Given the description of an element on the screen output the (x, y) to click on. 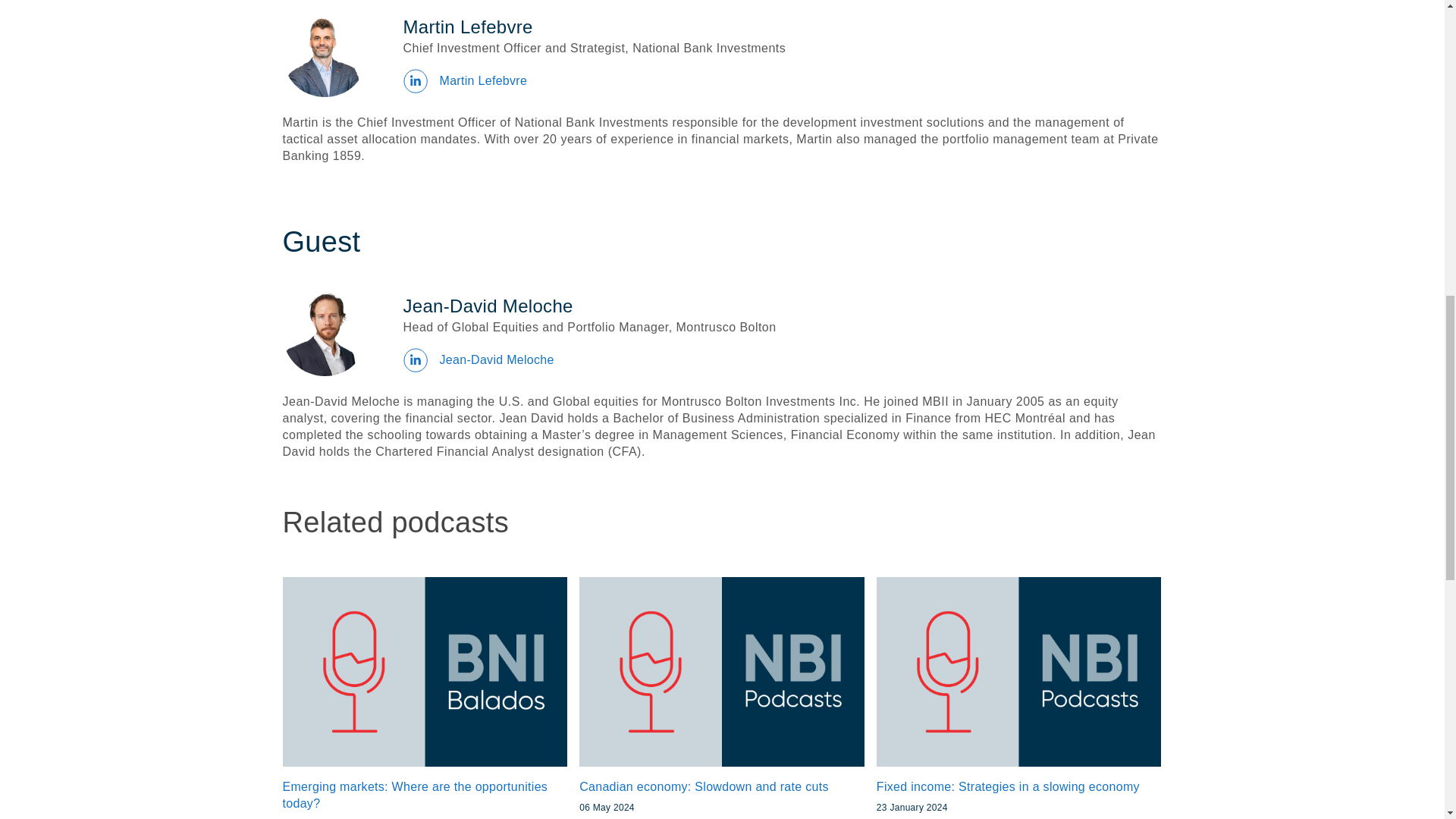
Jean-David Meloche (324, 333)
Image of podcast episode (1018, 671)
Image of podcast episode (721, 671)
Martin Lefebvre (324, 55)
Image of podcast episode (424, 671)
